Given the description of an element on the screen output the (x, y) to click on. 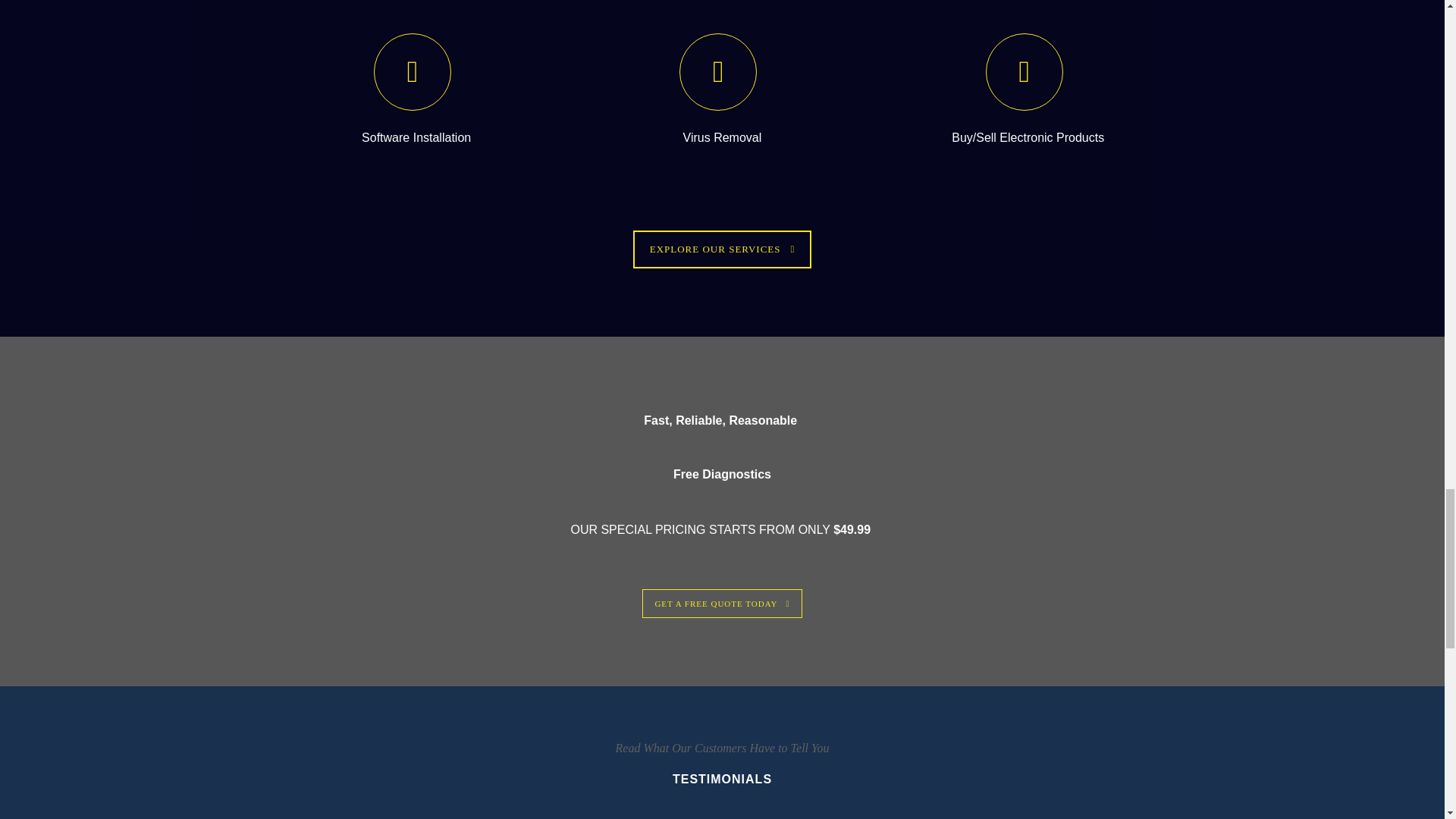
GET A FREE QUOTE TODAY (722, 603)
EXPLORE OUR SERVICES (722, 249)
